Given the description of an element on the screen output the (x, y) to click on. 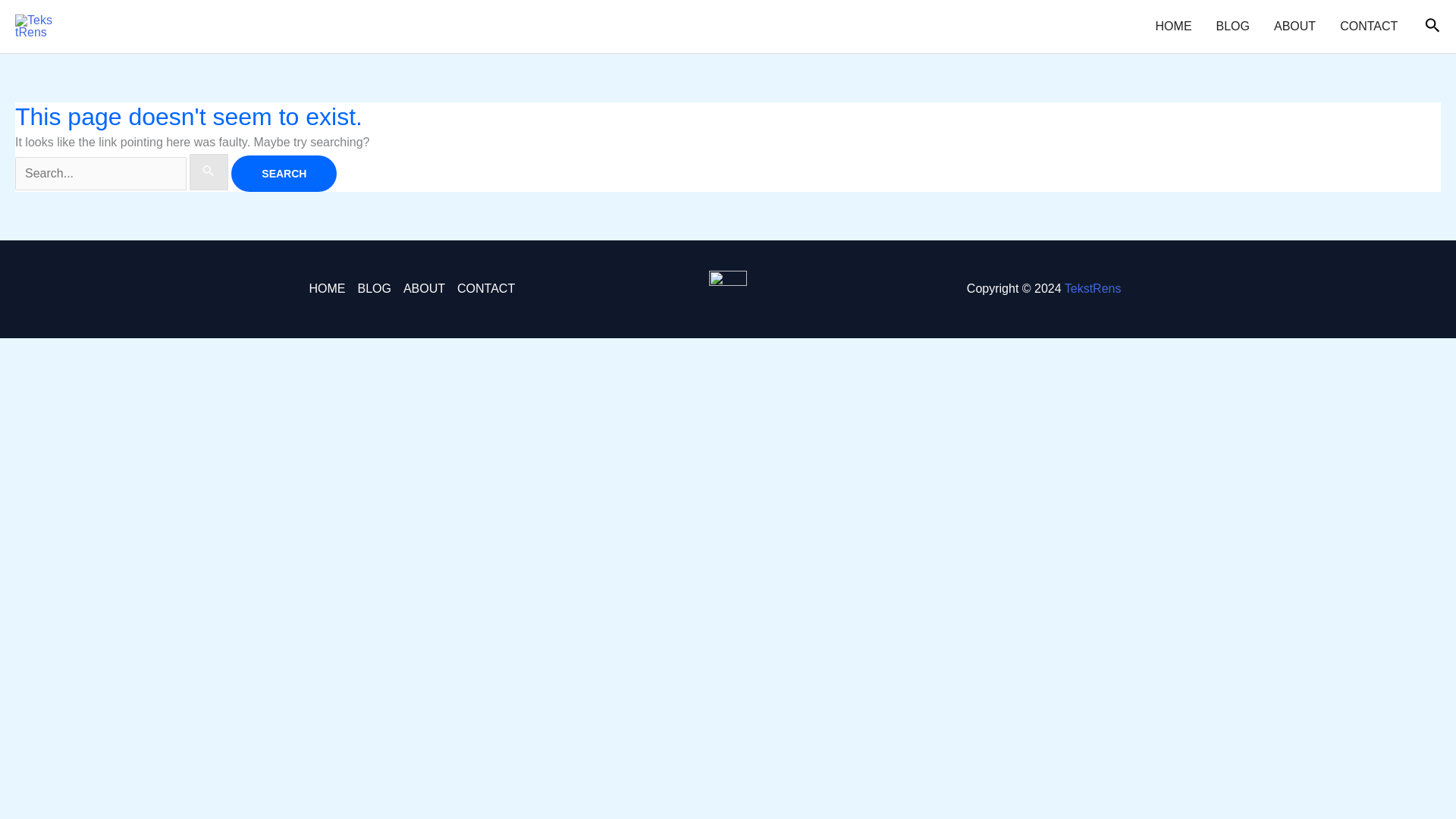
BLOG (373, 288)
BLOG (1233, 26)
Search (283, 173)
CONTACT (483, 288)
Search (283, 173)
HOME (329, 288)
ABOUT (424, 288)
HOME (1173, 26)
ABOUT (1294, 26)
TekstRens (1092, 287)
